Given the description of an element on the screen output the (x, y) to click on. 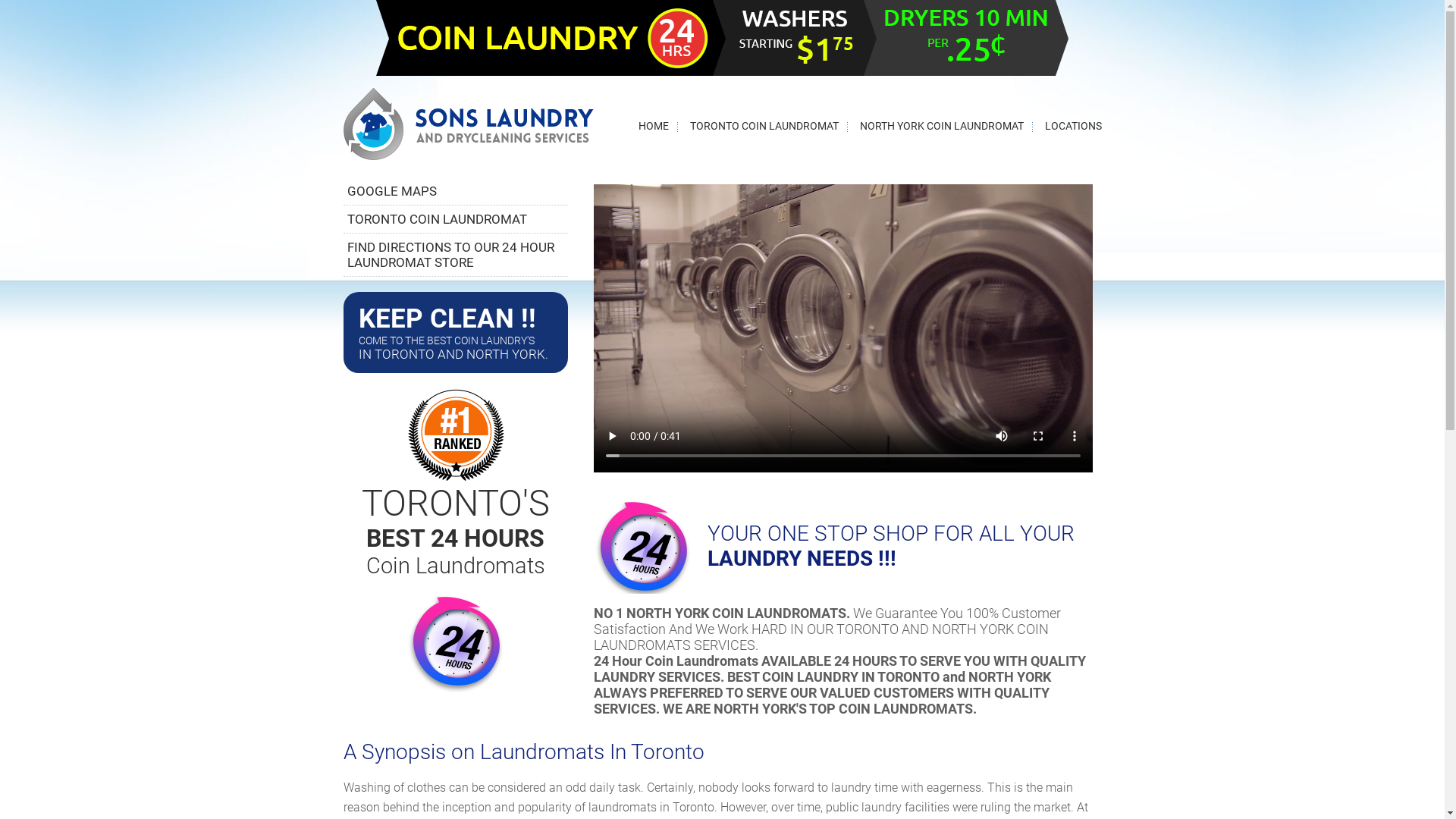
HOME Element type: text (653, 125)
TORONTO COIN LAUNDROMAT Element type: text (764, 125)
TORONTO COIN LAUNDROMAT Element type: text (437, 218)
GOOGLE MAPS Element type: text (391, 190)
FIND DIRECTIONS TO OUR 24 HOUR LAUNDROMAT STORE Element type: text (450, 254)
NORTH YORK COIN LAUNDROMAT Element type: text (941, 125)
LOCATIONS Element type: text (1072, 125)
